Given the description of an element on the screen output the (x, y) to click on. 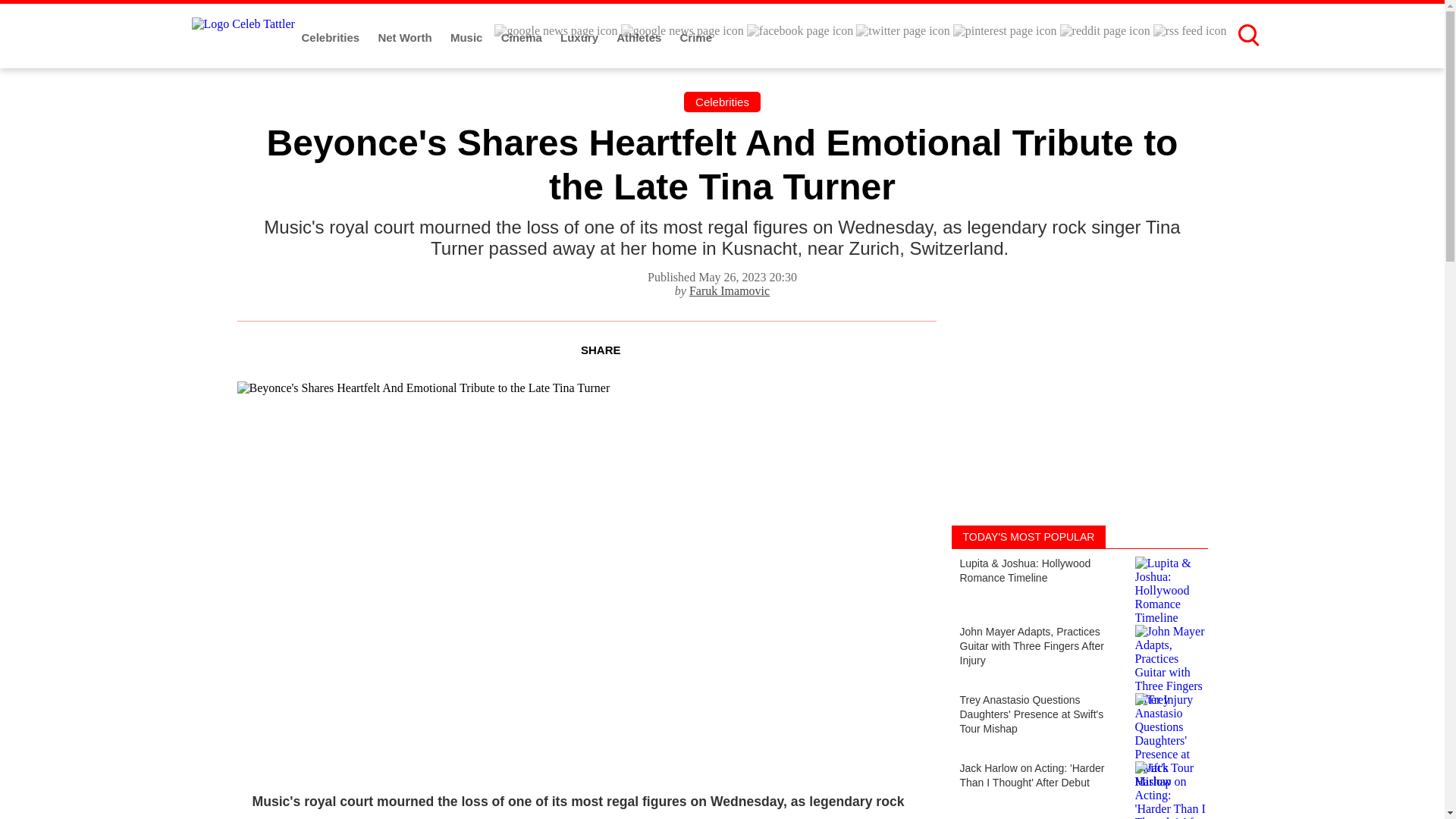
Net Worth (406, 37)
Cinema (522, 37)
Faruk Imamovic (729, 290)
Luxury (580, 37)
Celebrities (722, 101)
Music (467, 37)
Crime (696, 37)
Athletes (639, 37)
Celebrities (331, 37)
